Given the description of an element on the screen output the (x, y) to click on. 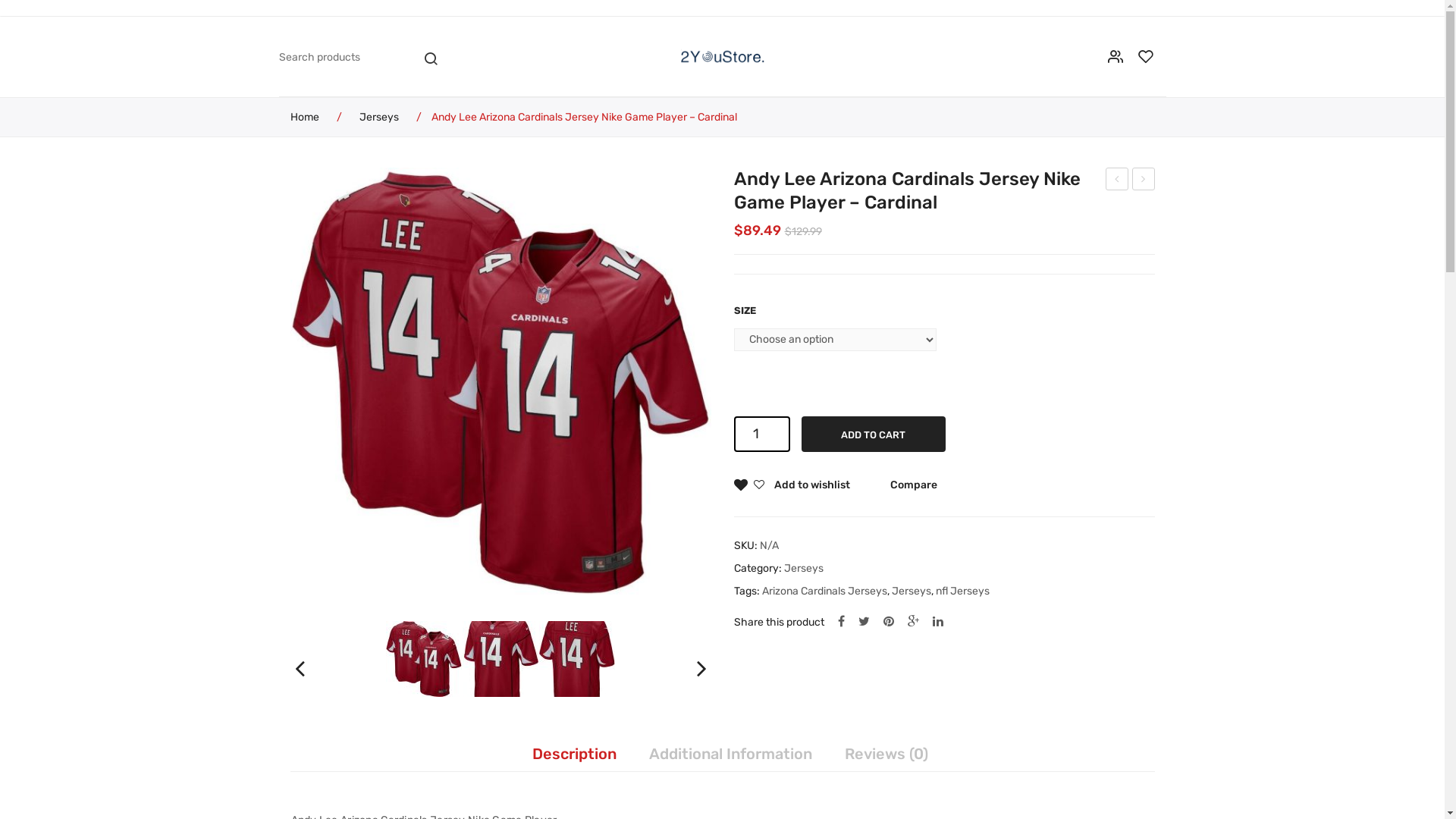
Description Element type: text (574, 753)
Compare Element type: text (913, 485)
Google + Element type: hover (912, 620)
Qty Element type: hover (761, 433)
Twitter Element type: hover (863, 620)
Facebook Element type: hover (840, 620)
Add to wishlist Element type: text (792, 485)
ADD TO CART Element type: text (872, 433)
My account Element type: text (1116, 56)
Jerseys Element type: text (378, 116)
Additional Information Element type: text (730, 753)
nfl Jerseys Element type: text (962, 590)
Reviews (0) Element type: text (886, 753)
Jerseys Element type: text (911, 590)
Home Element type: text (307, 116)
Wishlist Element type: text (1146, 56)
Jerseys Element type: text (803, 567)
LinkedIn Element type: hover (937, 620)
Search Element type: text (429, 56)
Pinterest Element type: hover (887, 620)
Arizona Cardinals Jerseys Element type: text (823, 590)
